Given the description of an element on the screen output the (x, y) to click on. 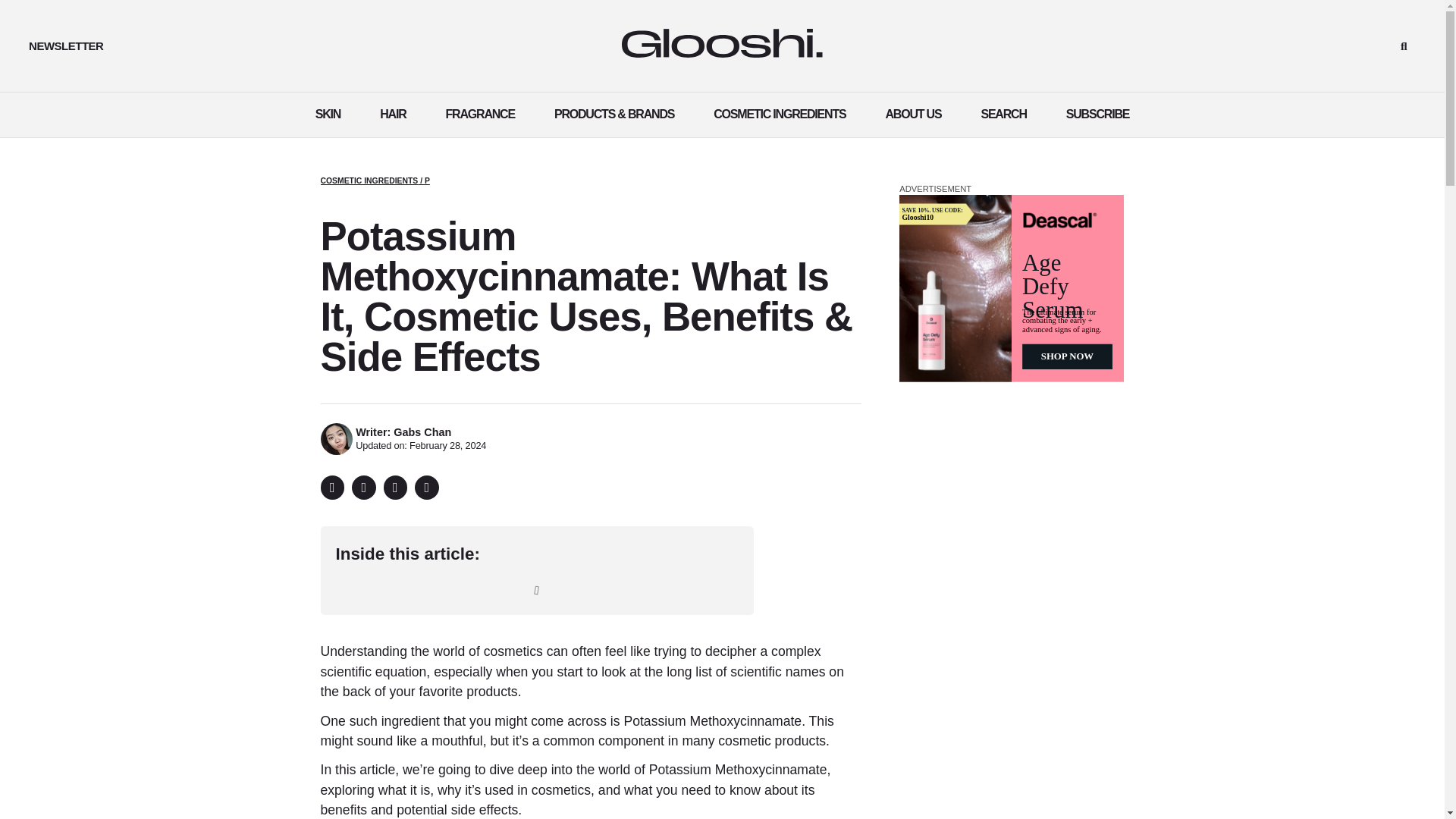
COSMETIC INGREDIENTS (779, 114)
Writer: Gabs Chan (403, 431)
COSMETIC INGREDIENTS (368, 180)
HAIR (392, 114)
SKIN (327, 114)
FRAGRANCE (480, 114)
ABOUT US (912, 114)
SUBSCRIBE (1097, 114)
SEARCH (1002, 114)
NEWSLETTER (66, 45)
